Given the description of an element on the screen output the (x, y) to click on. 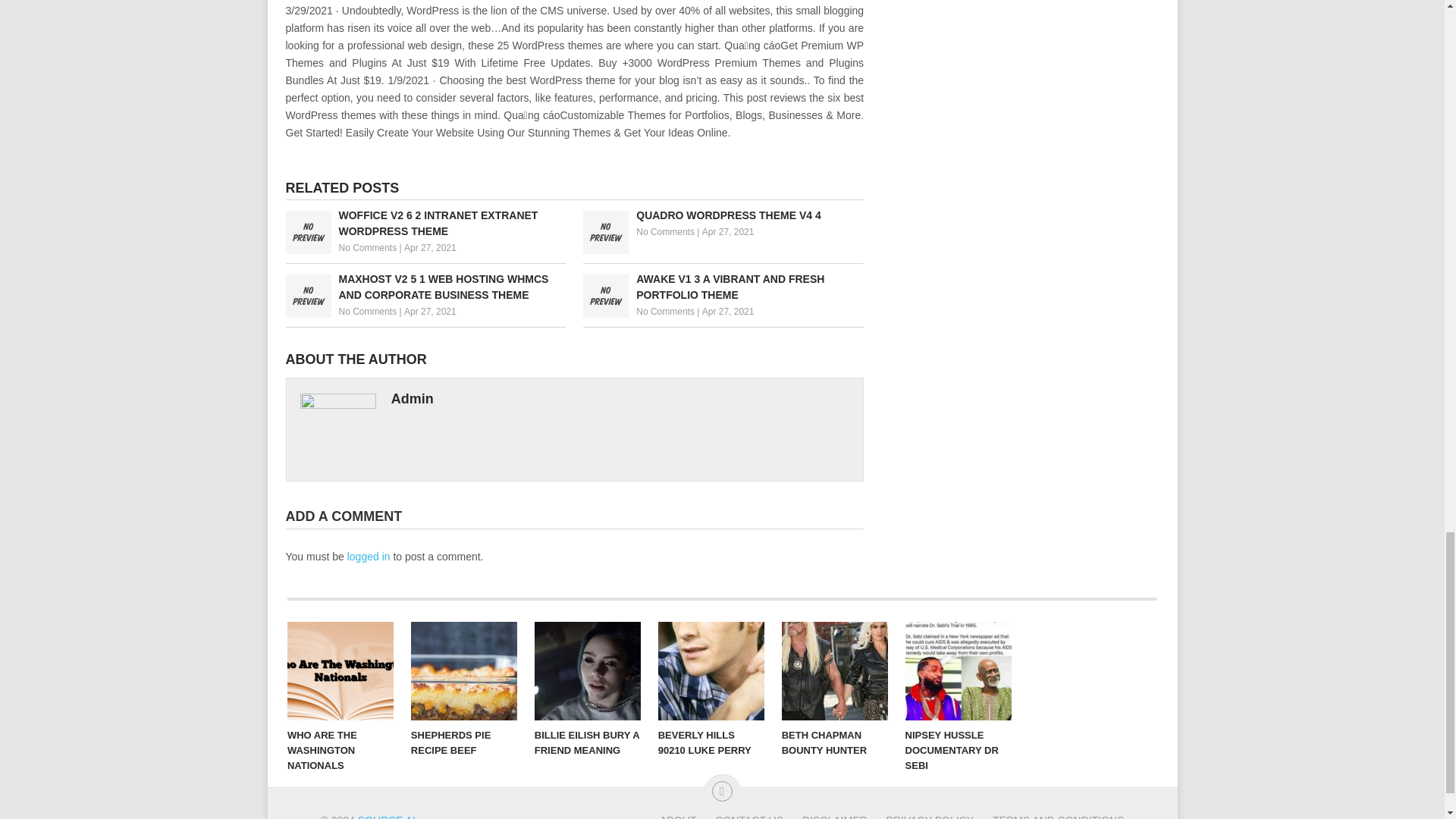
No Comments (665, 311)
No Comments (366, 247)
QUADRO WORDPRESS THEME V4 4 (723, 215)
logged in (368, 556)
No Comments (665, 231)
Who Are The Washington Nationals (339, 670)
No Comments (366, 311)
Quadro WordPress Theme V4 4 (723, 215)
WOFFICE V2 6 2 INTRANET EXTRANET WORDPRESS THEME (425, 223)
Awake V1 3 A Vibrant And Fresh Portfolio Theme (723, 287)
Woffice V2 6 2 Intranet Extranet WordPress Theme (425, 223)
AWAKE V1 3 A VIBRANT AND FRESH PORTFOLIO THEME (723, 287)
